Given the description of an element on the screen output the (x, y) to click on. 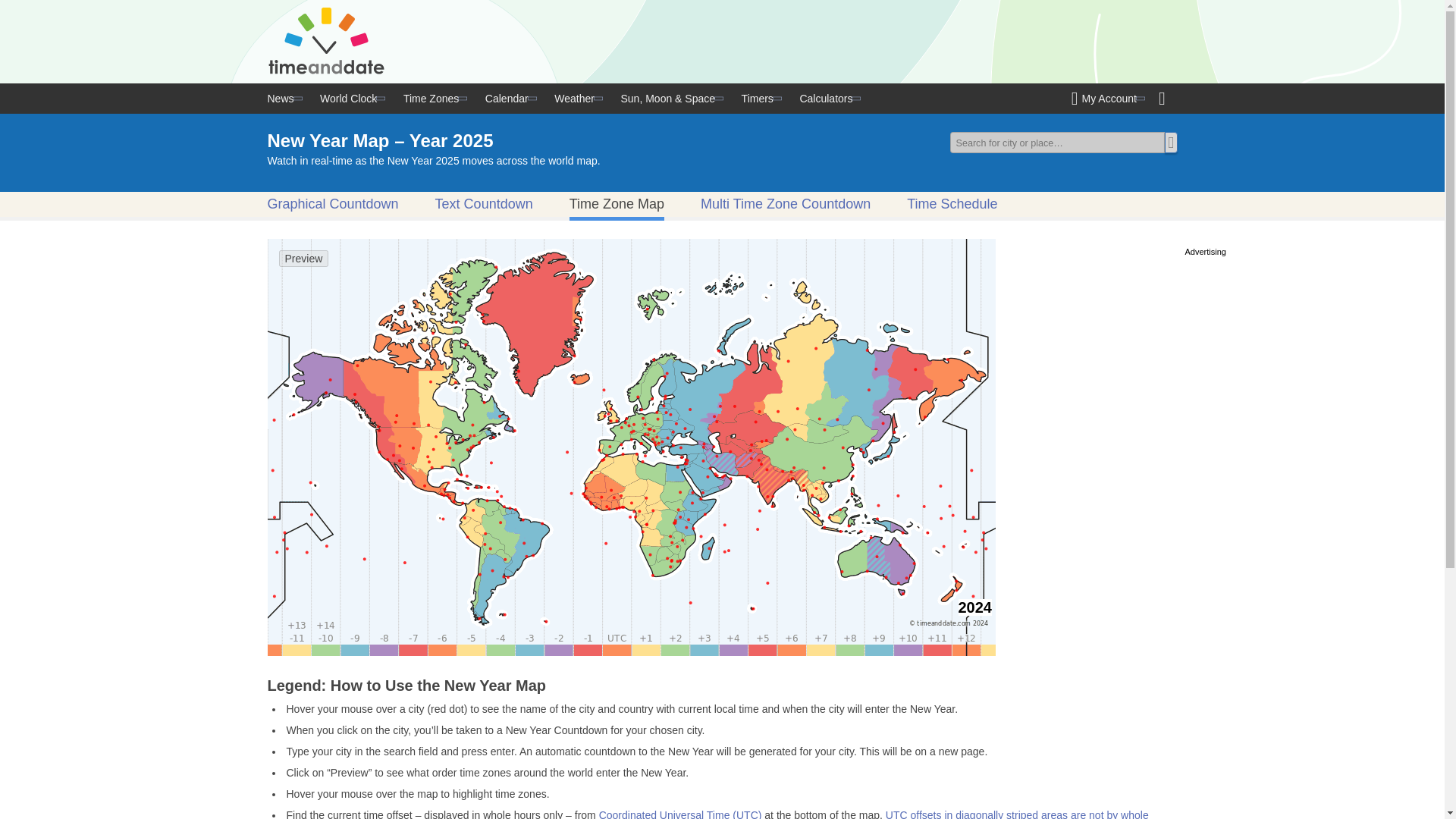
Time Zones (433, 98)
News (285, 98)
World Clock (351, 98)
Preview (304, 258)
Calendar (509, 98)
Home page timeanddate.com (327, 41)
